Given the description of an element on the screen output the (x, y) to click on. 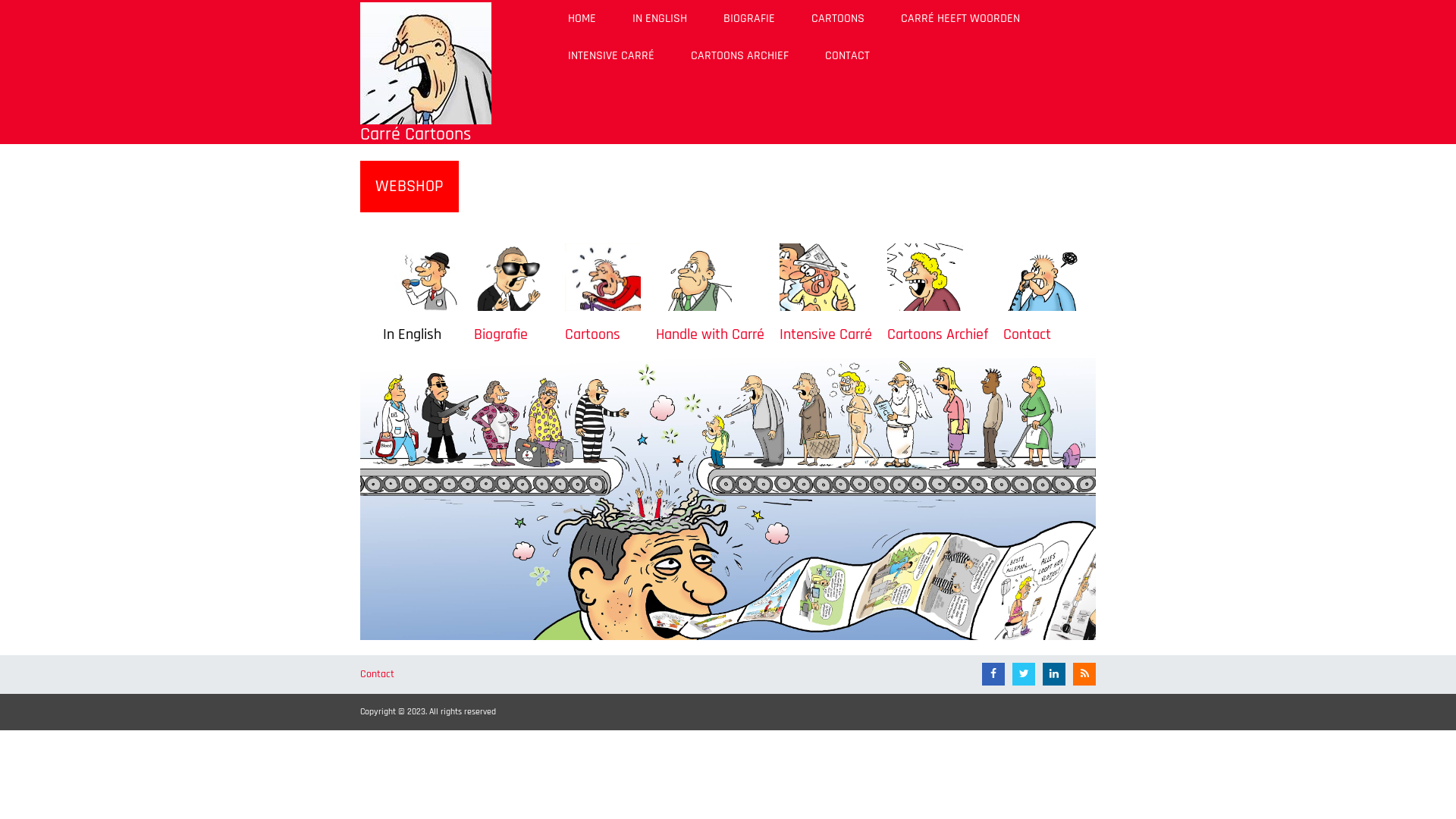
BIOGRAFIE Element type: text (749, 18)
HOME Element type: text (581, 18)
WEBSHOP Element type: text (409, 186)
Biografie Element type: text (500, 334)
Contact Element type: text (384, 673)
In English Element type: text (411, 334)
Overslaan en naar de inhoud gaan Element type: text (0, 0)
CONTACT Element type: text (847, 55)
Home Element type: hover (425, 62)
CARTOONS ARCHIEF Element type: text (739, 55)
Cartoons Archief Element type: text (937, 334)
Contact Element type: text (1027, 334)
Cartoons Element type: text (592, 334)
IN ENGLISH Element type: text (659, 18)
CARTOONS Element type: text (837, 18)
